Given the description of an element on the screen output the (x, y) to click on. 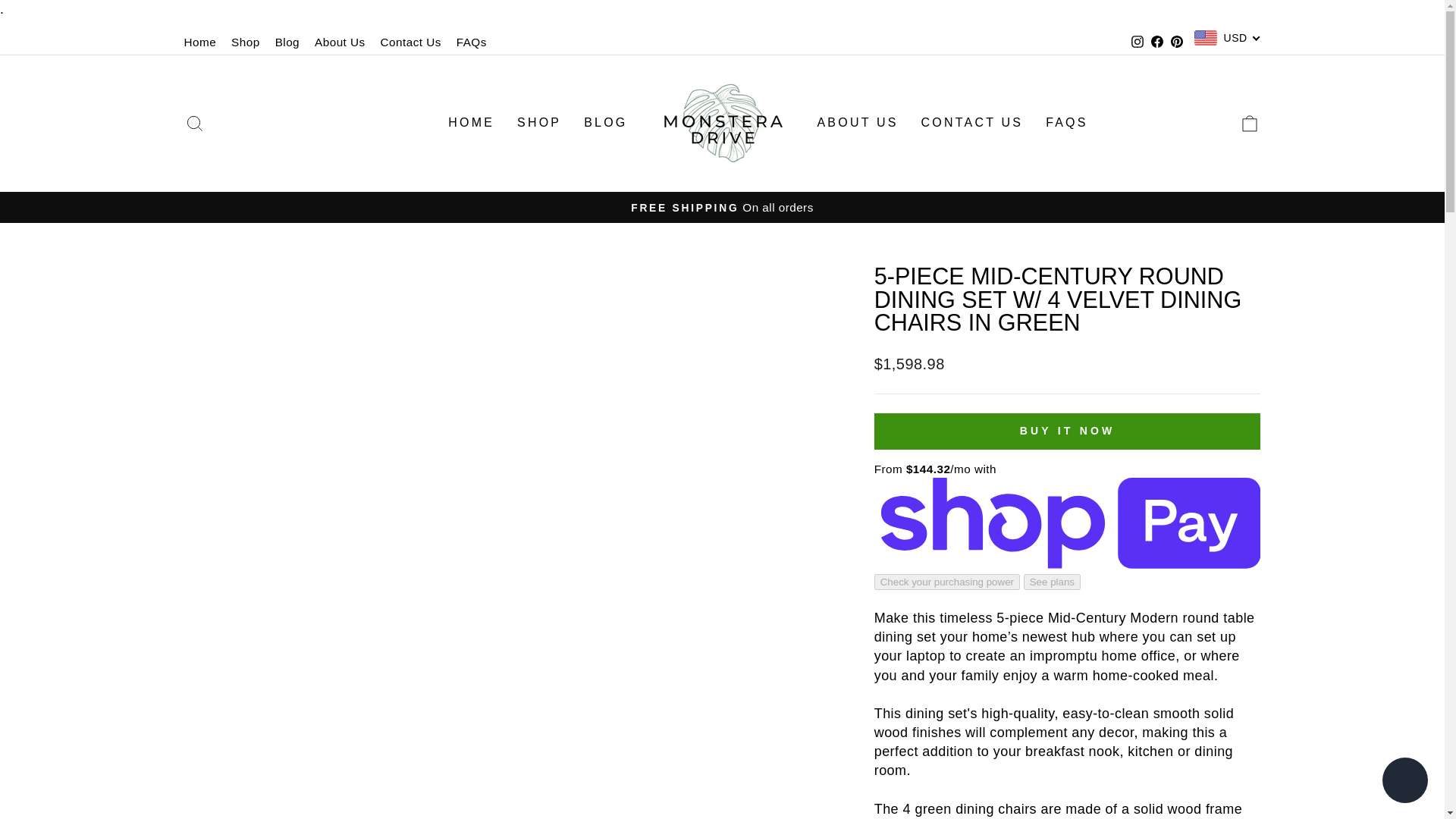
Shop (245, 42)
FAQs (471, 42)
About Us (339, 42)
Blog (287, 42)
Contact Us (410, 42)
Home (200, 42)
Shopify online store chat (1404, 781)
